Given the description of an element on the screen output the (x, y) to click on. 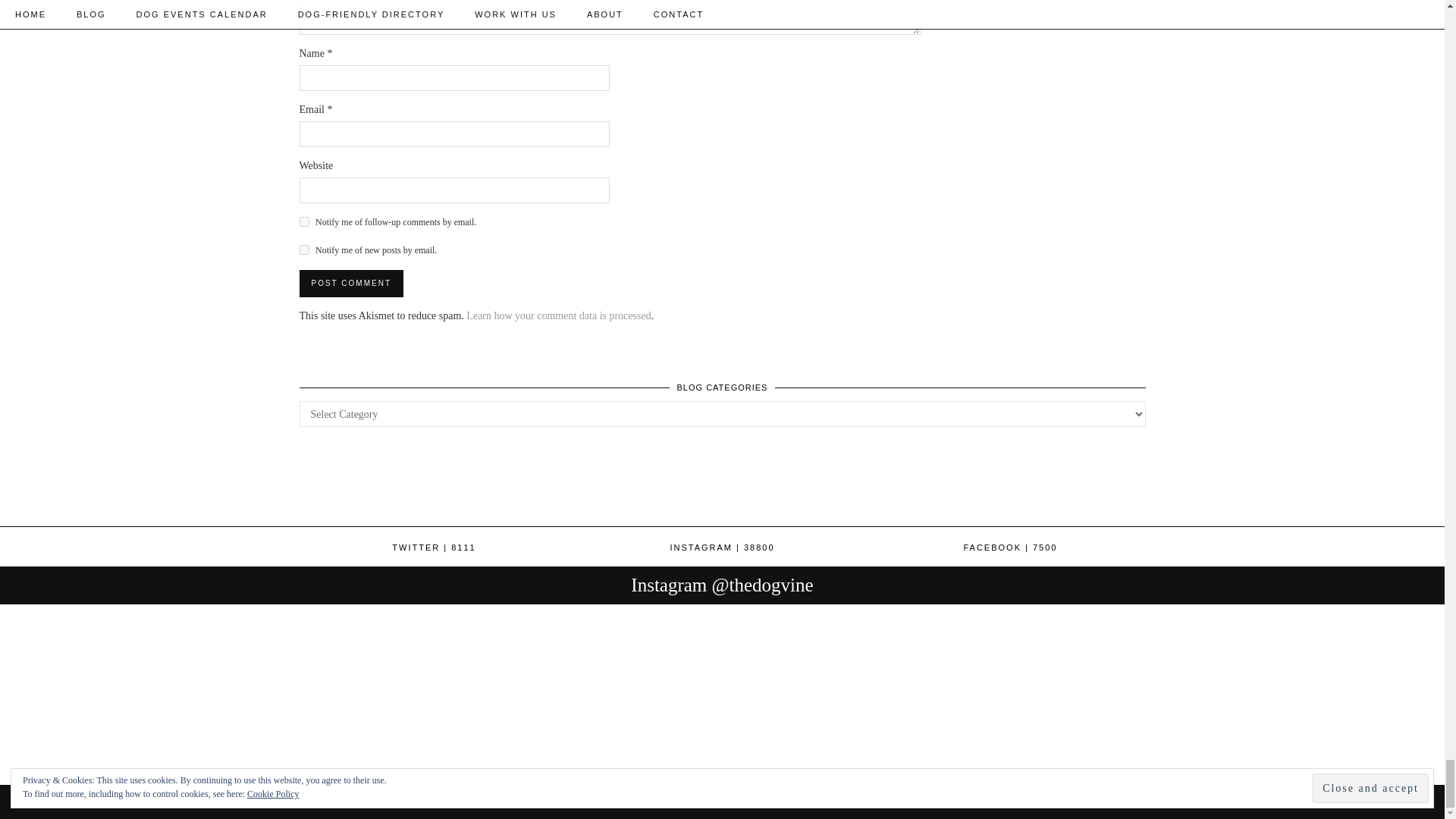
subscribe (303, 221)
Post Comment (350, 283)
subscribe (303, 249)
